Given the description of an element on the screen output the (x, y) to click on. 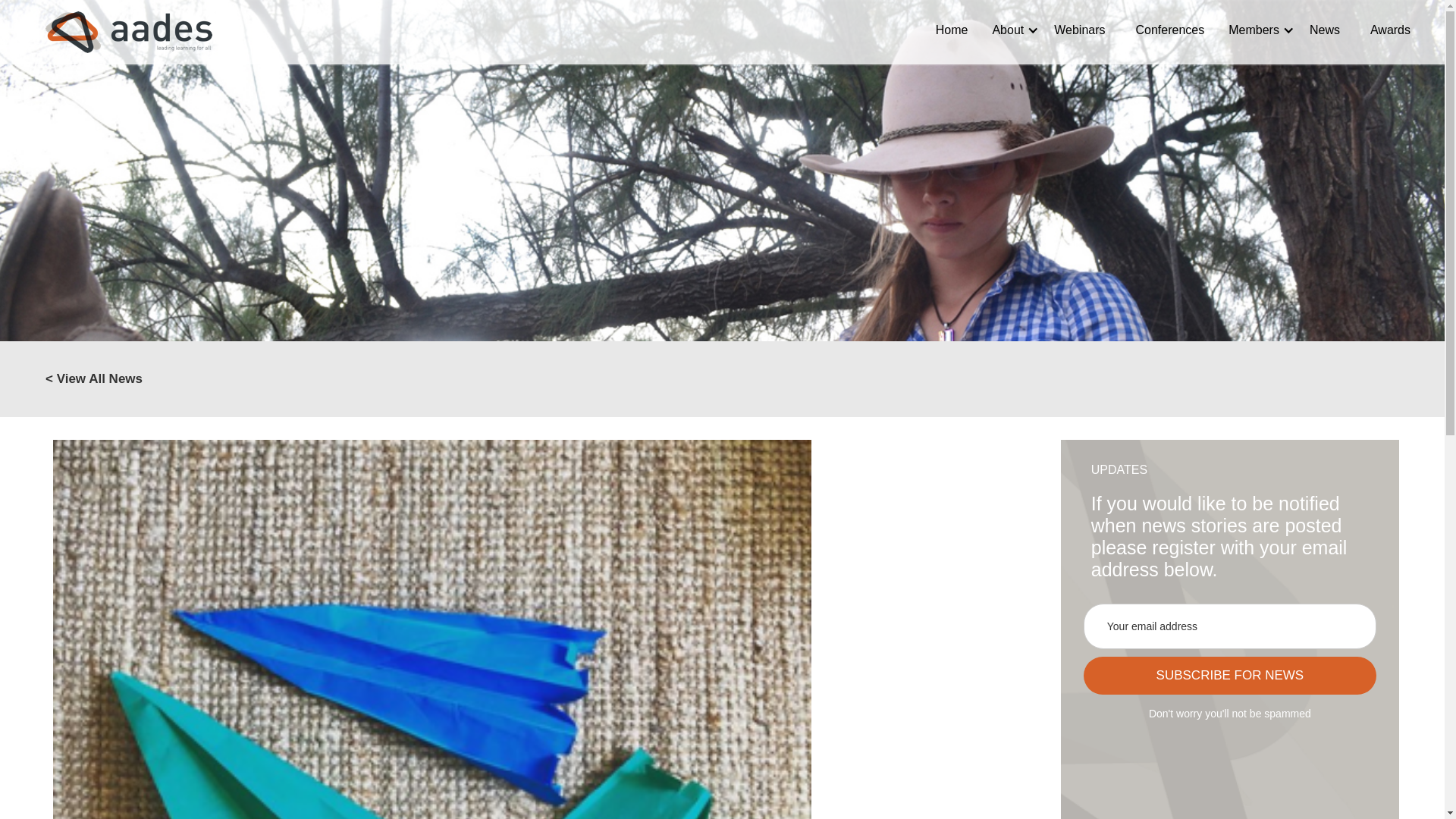
SUBSCRIBE FOR NEWS (1229, 675)
News (1324, 30)
Awards (1390, 30)
Webinars (1079, 30)
Home (952, 30)
SUBSCRIBE FOR NEWS (1229, 675)
Conferences (1170, 30)
